Given the description of an element on the screen output the (x, y) to click on. 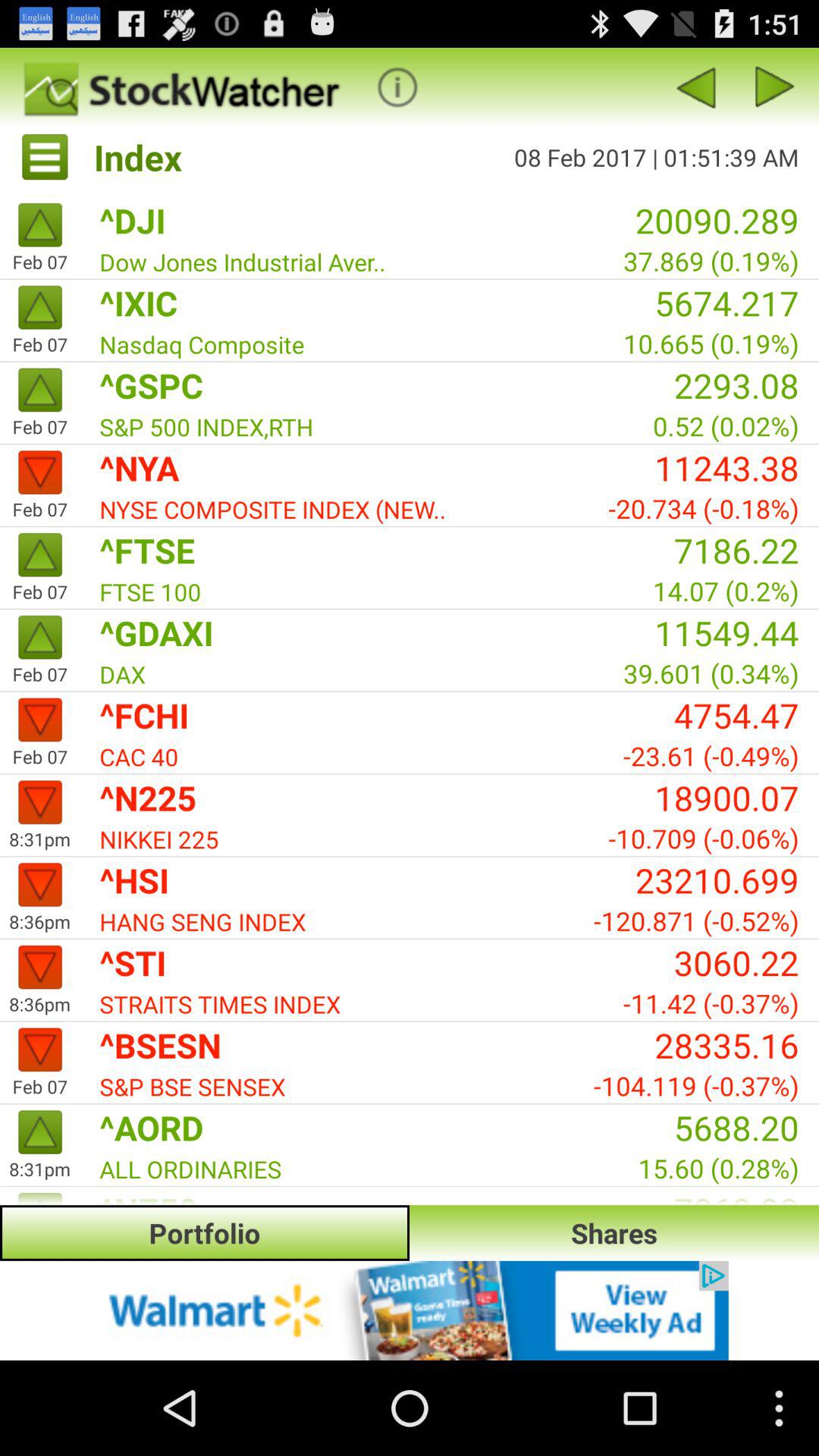
icon button (397, 87)
